Given the description of an element on the screen output the (x, y) to click on. 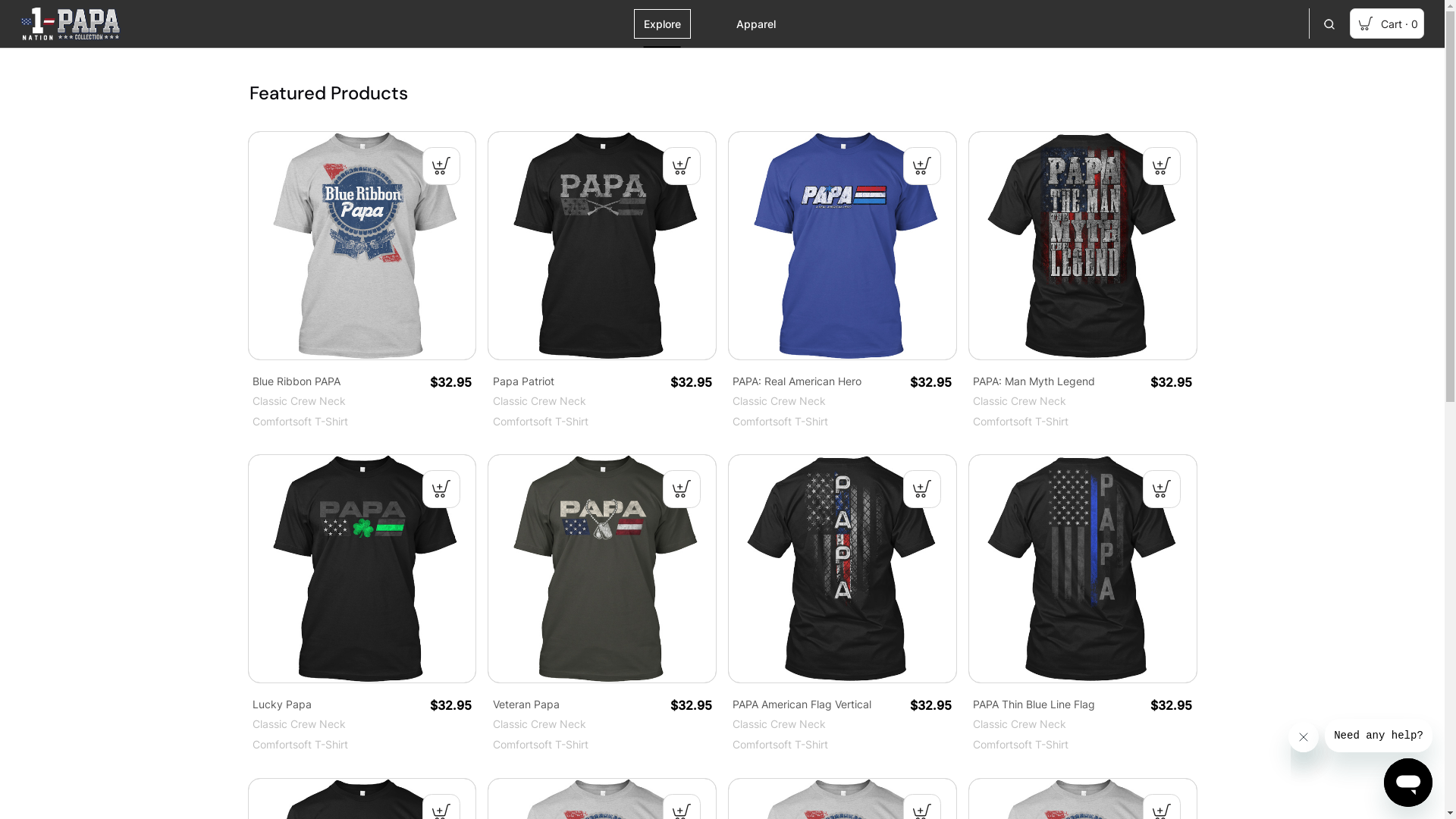
Papa Patriot
Classic Crew Neck Comfortsoft T-Shirt
$32.95 Element type: text (601, 281)
Veteran Papa
Classic Crew Neck Comfortsoft T-Shirt
$32.95 Element type: text (601, 604)
Lucky Papa
Classic Crew Neck Comfortsoft T-Shirt
$32.95 Element type: text (361, 604)
Apparel Element type: text (755, 24)
Explore Element type: text (661, 24)
Close message Element type: hover (1303, 736)
Button to launch messaging window Element type: hover (1407, 782)
Message from company Element type: hover (1378, 735)
